Given the description of an element on the screen output the (x, y) to click on. 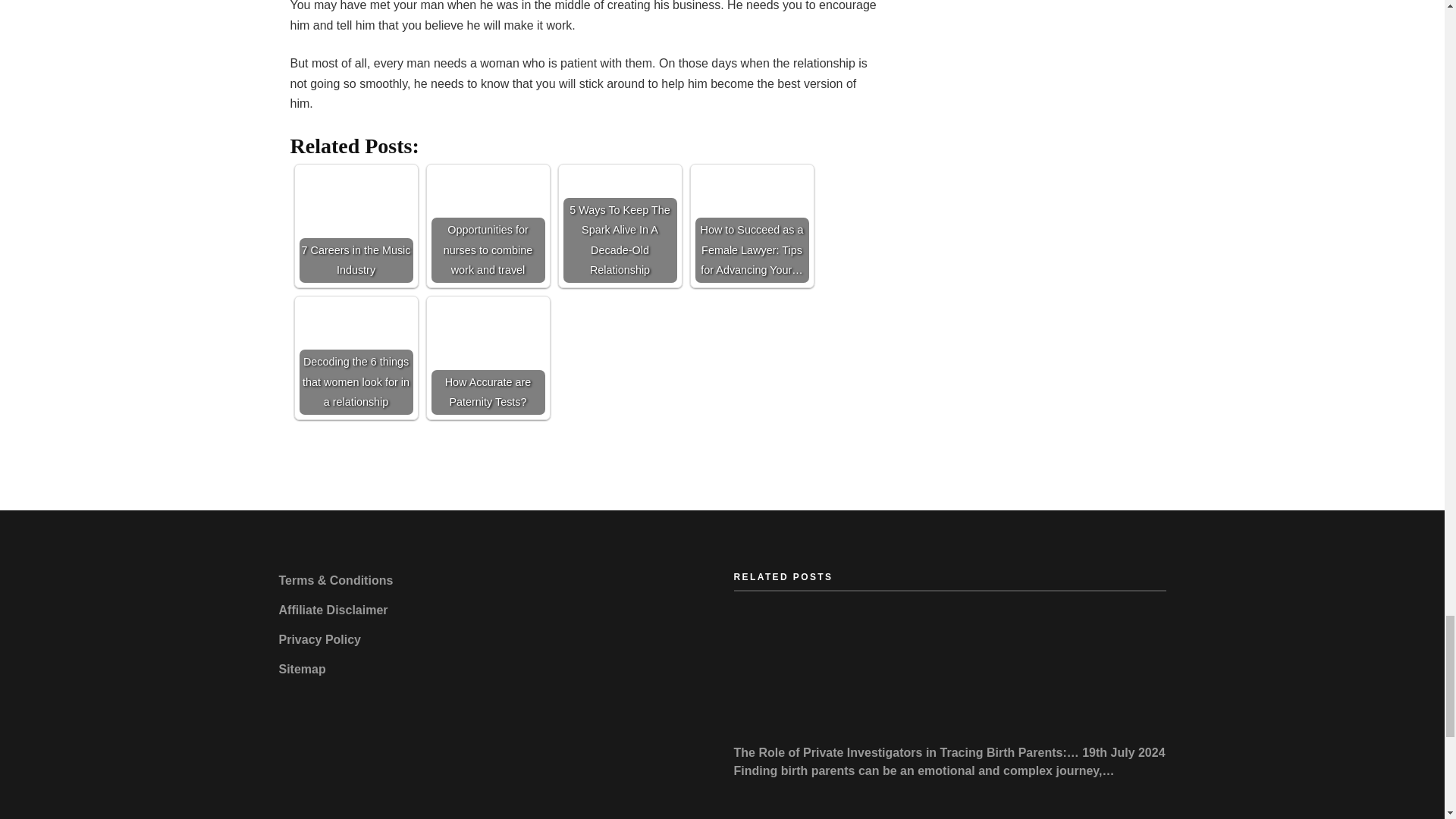
Decoding the 6 things that women look for in a relationship (355, 357)
7 Careers in the Music Industry (355, 225)
How Accurate are Paternity Tests? (487, 357)
Opportunities for nurses to combine work and travel (487, 225)
5 Ways To Keep The Spark Alive In A Decade-Old Relationship (619, 225)
